Given the description of an element on the screen output the (x, y) to click on. 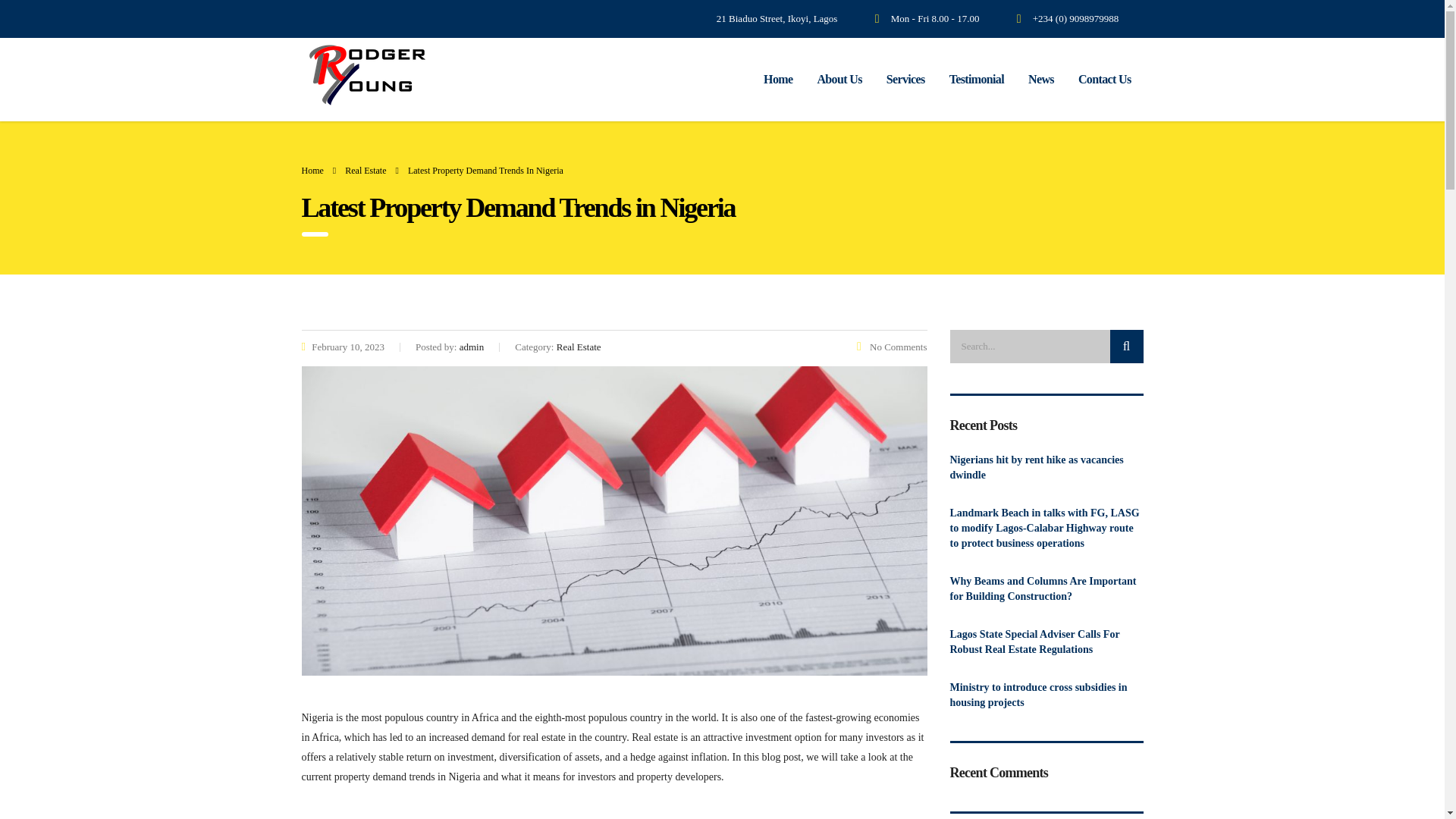
Go to Rodger Young. (312, 170)
Home (312, 170)
Testimonial (976, 79)
News (1040, 79)
No Comments (892, 346)
Ministry to introduce cross subsidies in housing projects (1045, 695)
Real Estate (365, 170)
Home (778, 79)
Go to the Real Estate category archives. (365, 170)
Nigerians hit by rent hike as vacancies dwindle (1045, 467)
About Us (839, 79)
Contact Us (1103, 79)
Services (906, 79)
